Given the description of an element on the screen output the (x, y) to click on. 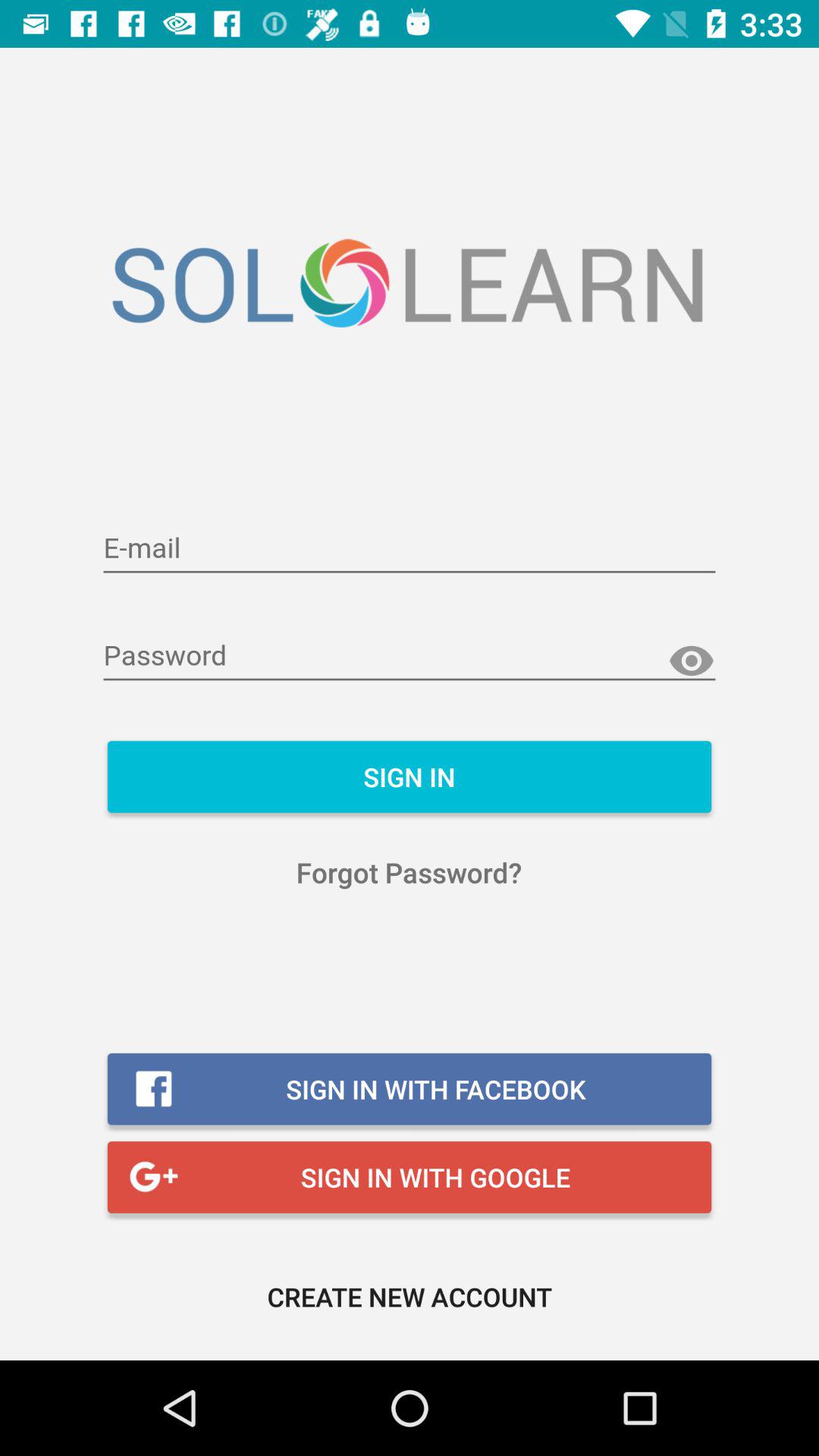
e-mail textbox (409, 548)
